Given the description of an element on the screen output the (x, y) to click on. 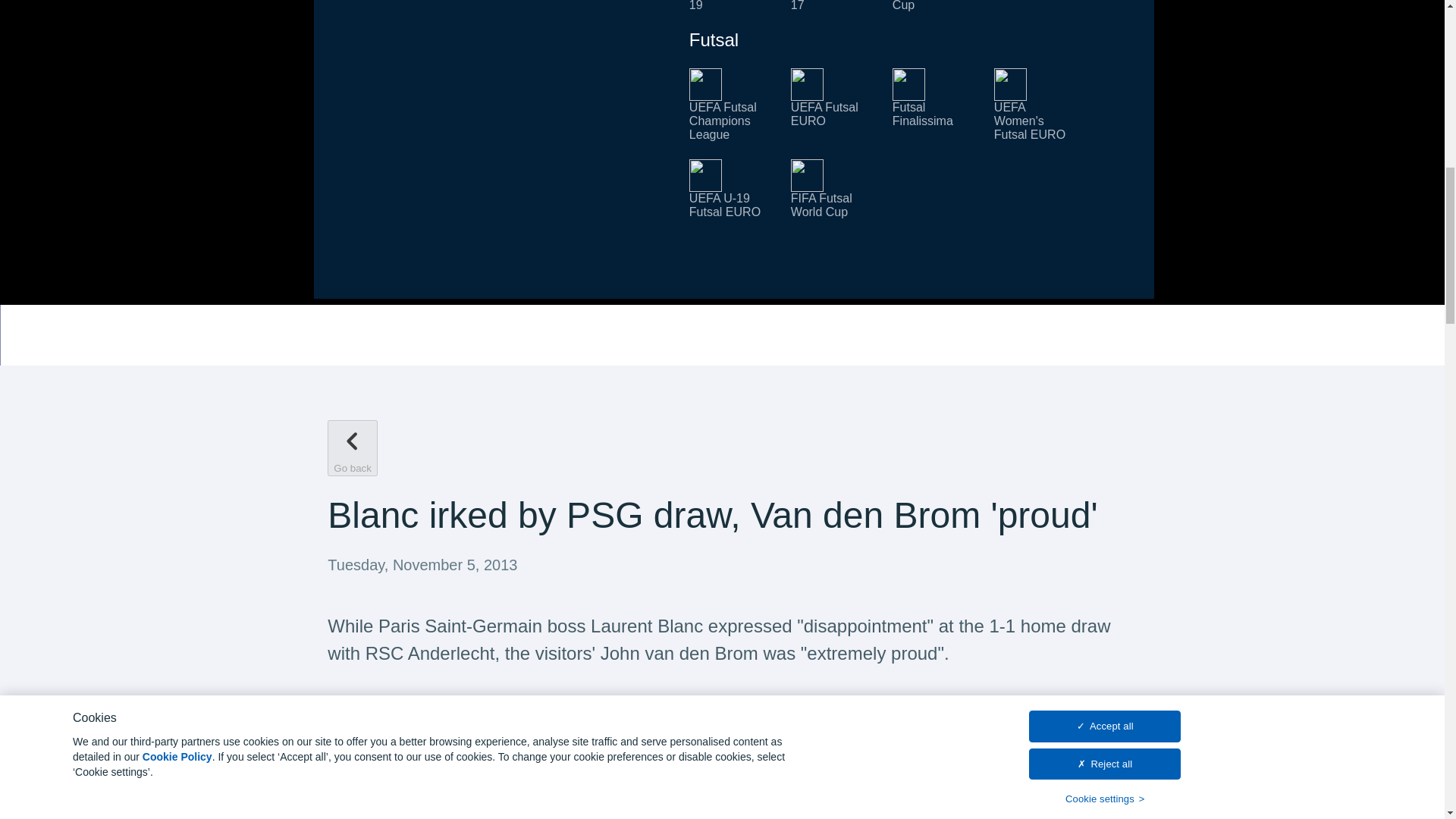
UEFA Under-17 (832, 6)
UEFA Under-19 (730, 6)
UEFA Regions' Cup (933, 6)
